Given the description of an element on the screen output the (x, y) to click on. 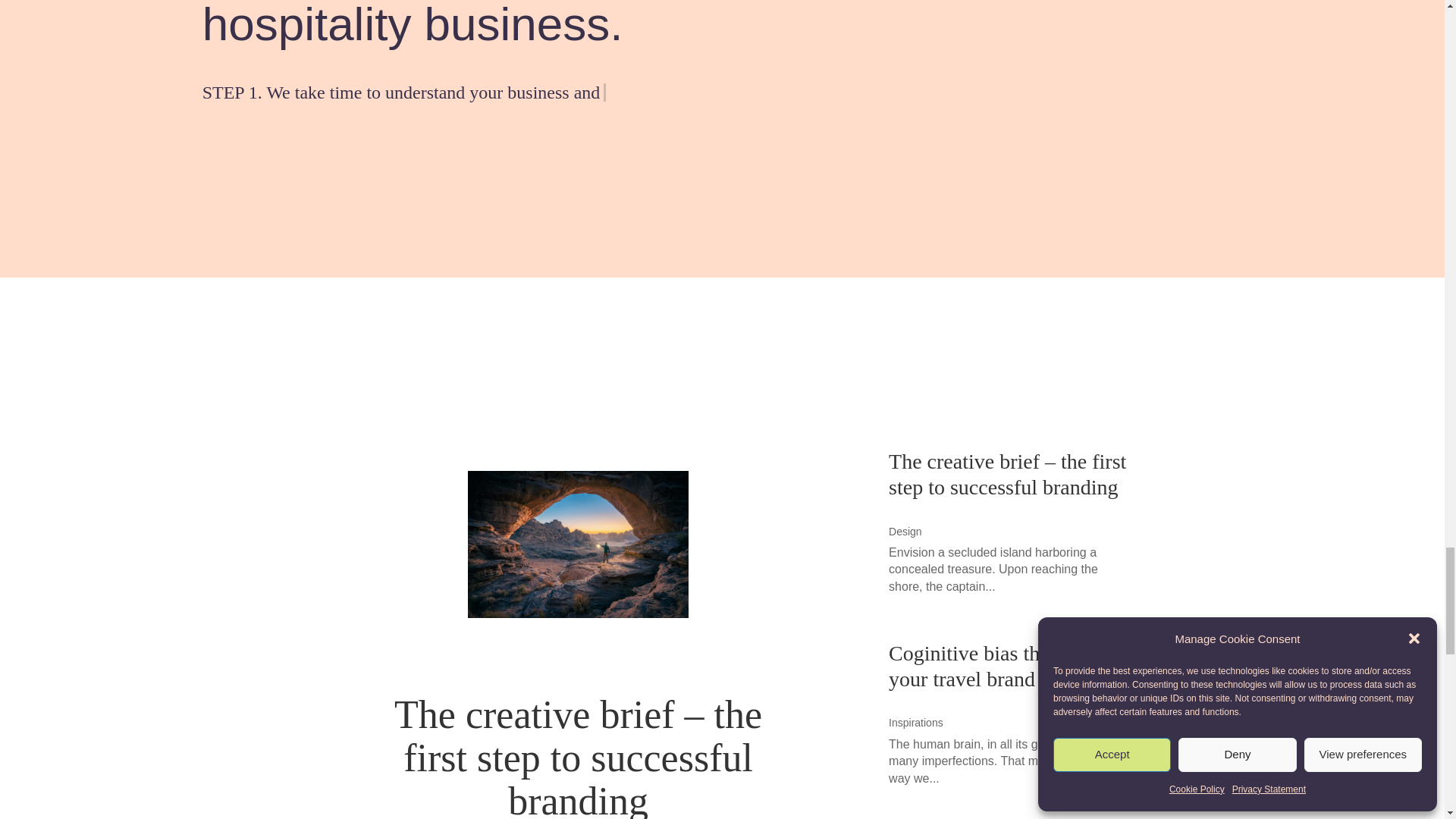
Coginitive bias that effect your travel brand (998, 666)
Design (904, 531)
Inspirations (915, 722)
